Given the description of an element on the screen output the (x, y) to click on. 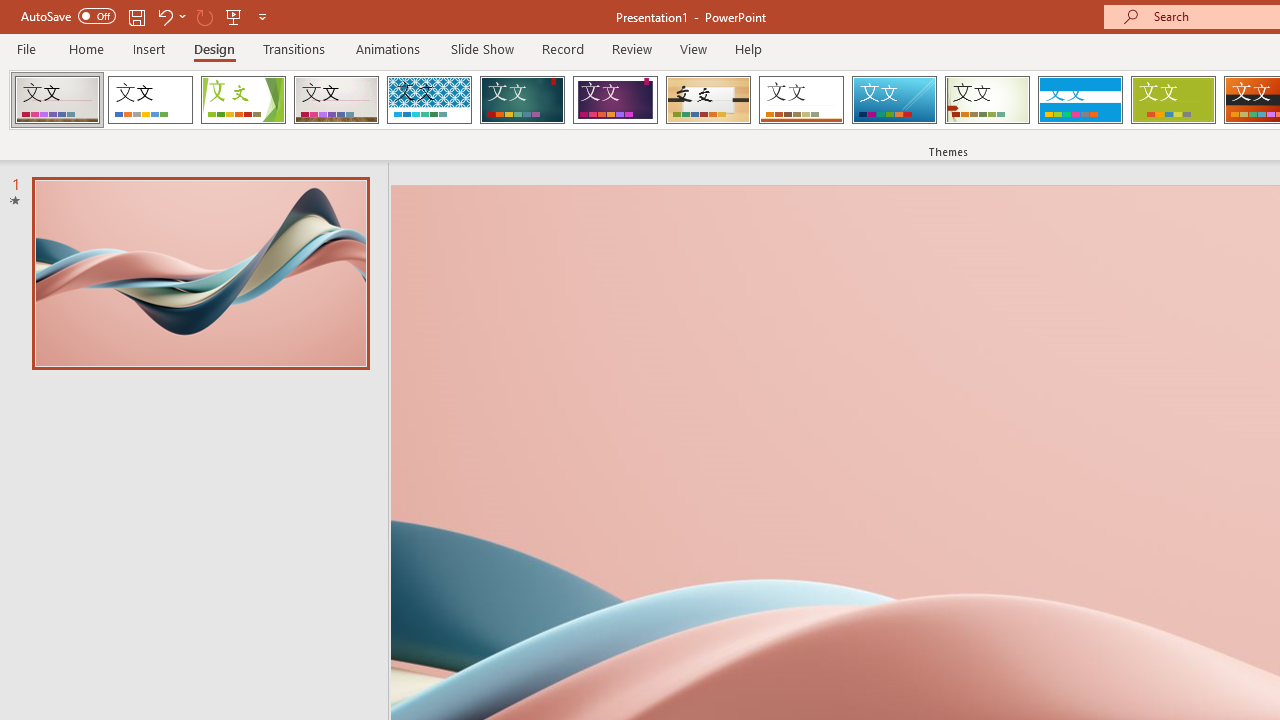
Organic (708, 100)
